Given the description of an element on the screen output the (x, y) to click on. 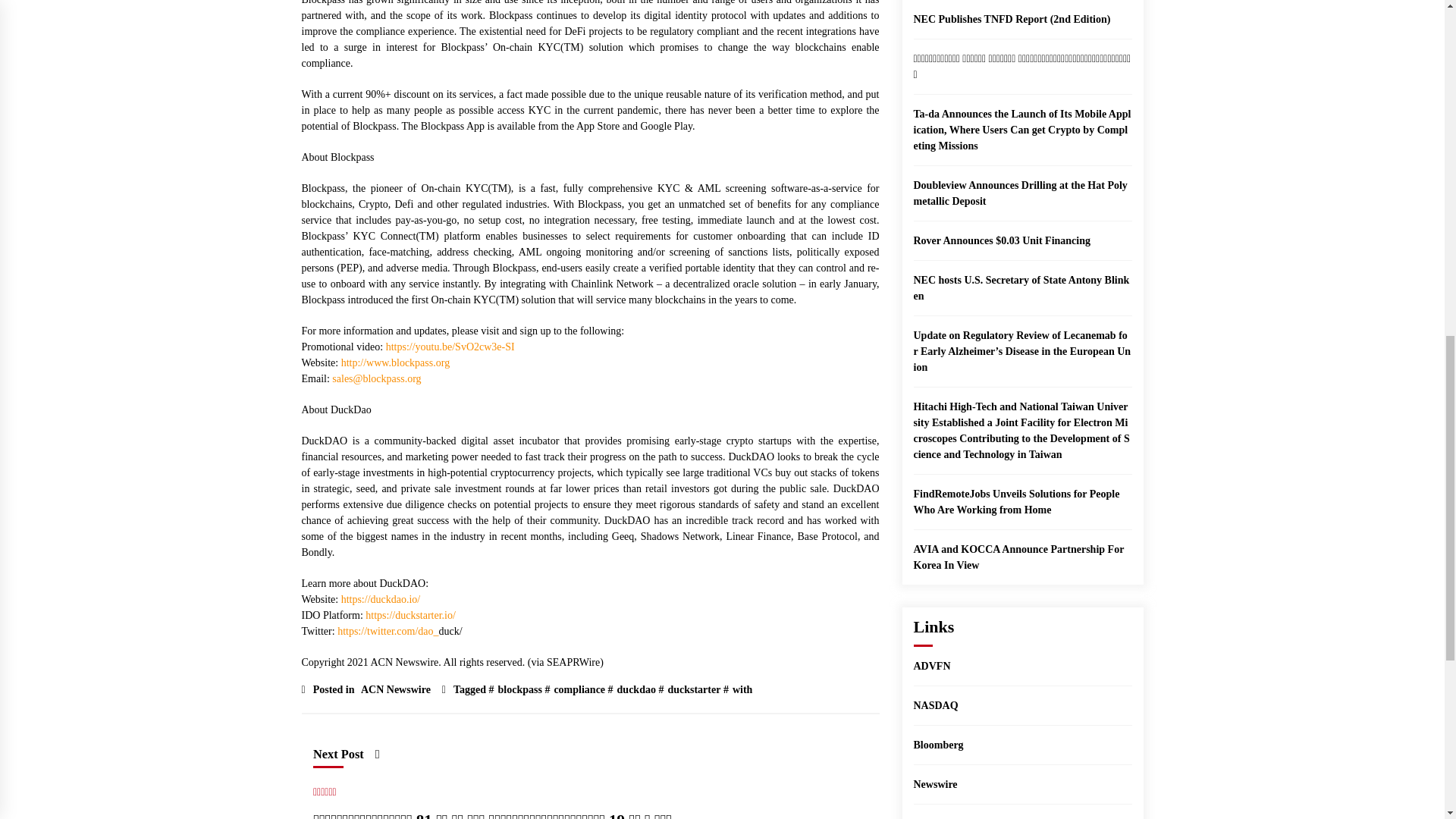
duckstarter (691, 689)
duckdao (634, 689)
Next Post (345, 753)
ACN Newswire (393, 689)
compliance (577, 689)
with (740, 689)
blockpass (518, 689)
